Given the description of an element on the screen output the (x, y) to click on. 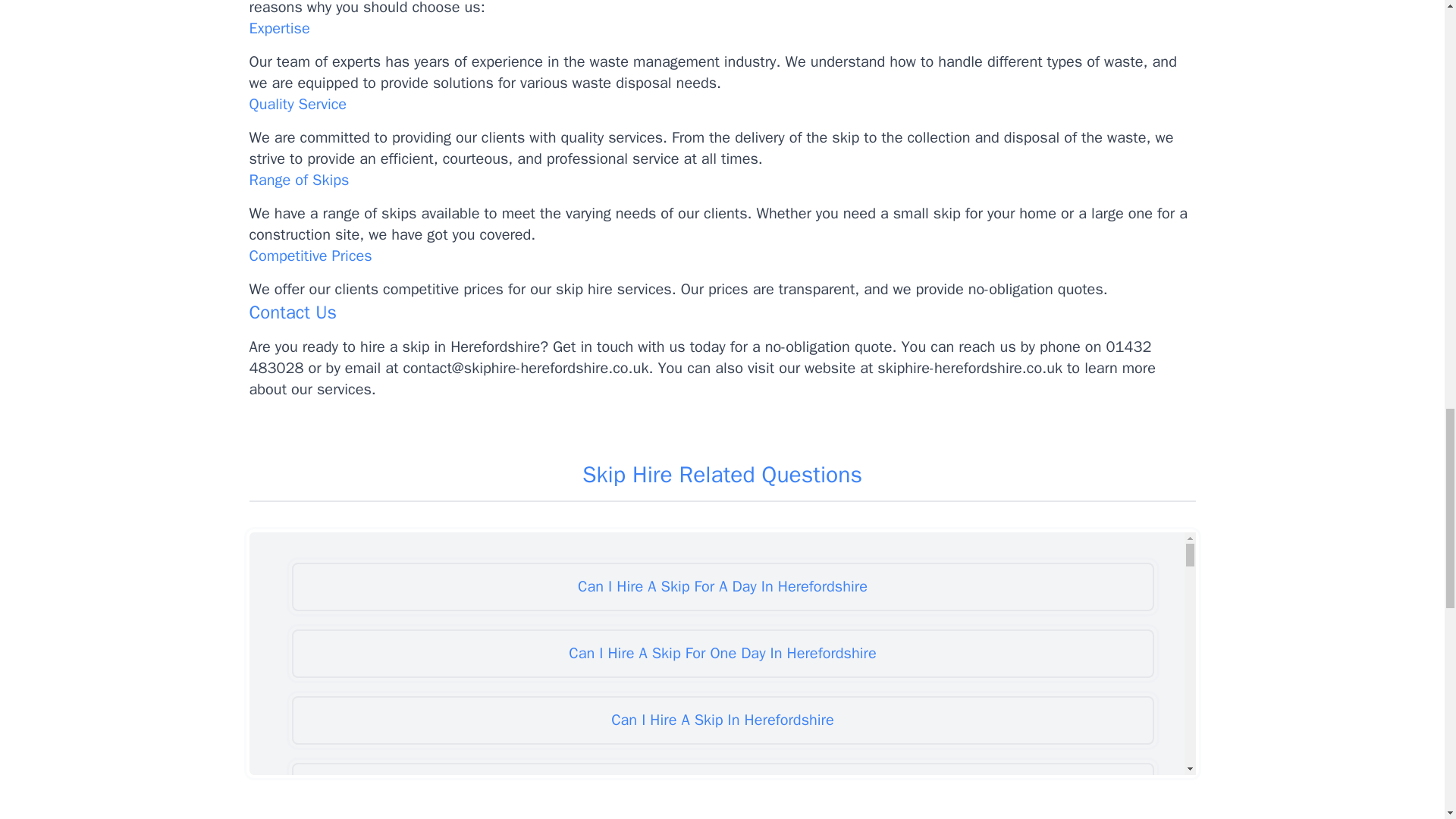
Can I Hire A Skip For A Day In Herefordshire (722, 586)
Can I Hire A Skip For One Day In Herefordshire (722, 653)
Can You Hire A Skip For A Day In Herefordshire (722, 786)
Can I Hire A Skip In Herefordshire (722, 720)
